Given the description of an element on the screen output the (x, y) to click on. 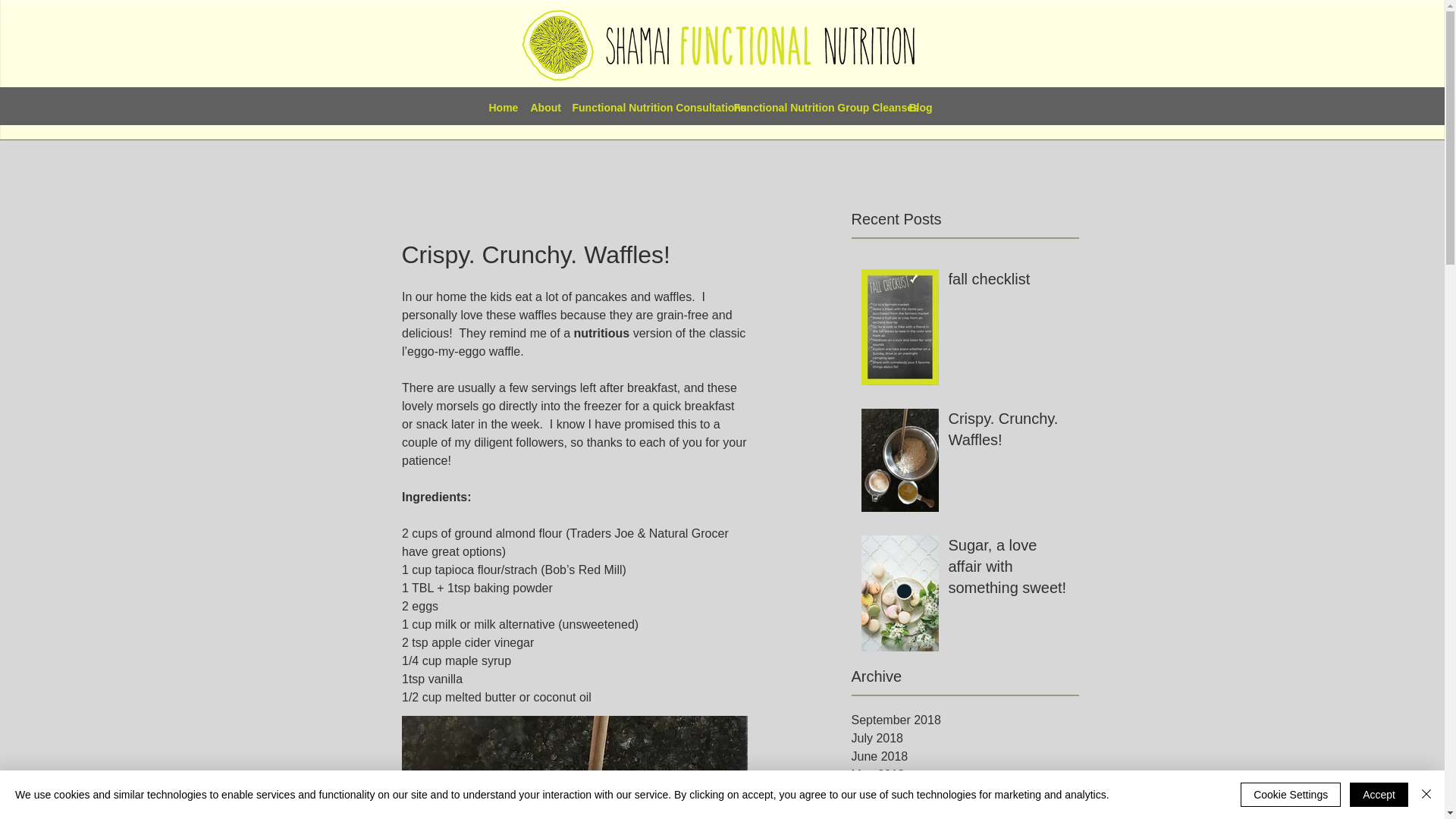
Crispy. Crunchy. Waffles! (1007, 431)
Functional Nutrition Group Cleanses (813, 107)
Functional Nutrition Consultations (644, 107)
fall checklist (1007, 281)
July 2018 (964, 738)
About (543, 107)
June 2018 (964, 756)
March 2018 (964, 810)
Sugar, a love affair with something sweet! (1007, 569)
April 2018 (964, 792)
May 2018 (964, 774)
Home (501, 107)
September 2018 (964, 720)
Blog (918, 107)
